Given the description of an element on the screen output the (x, y) to click on. 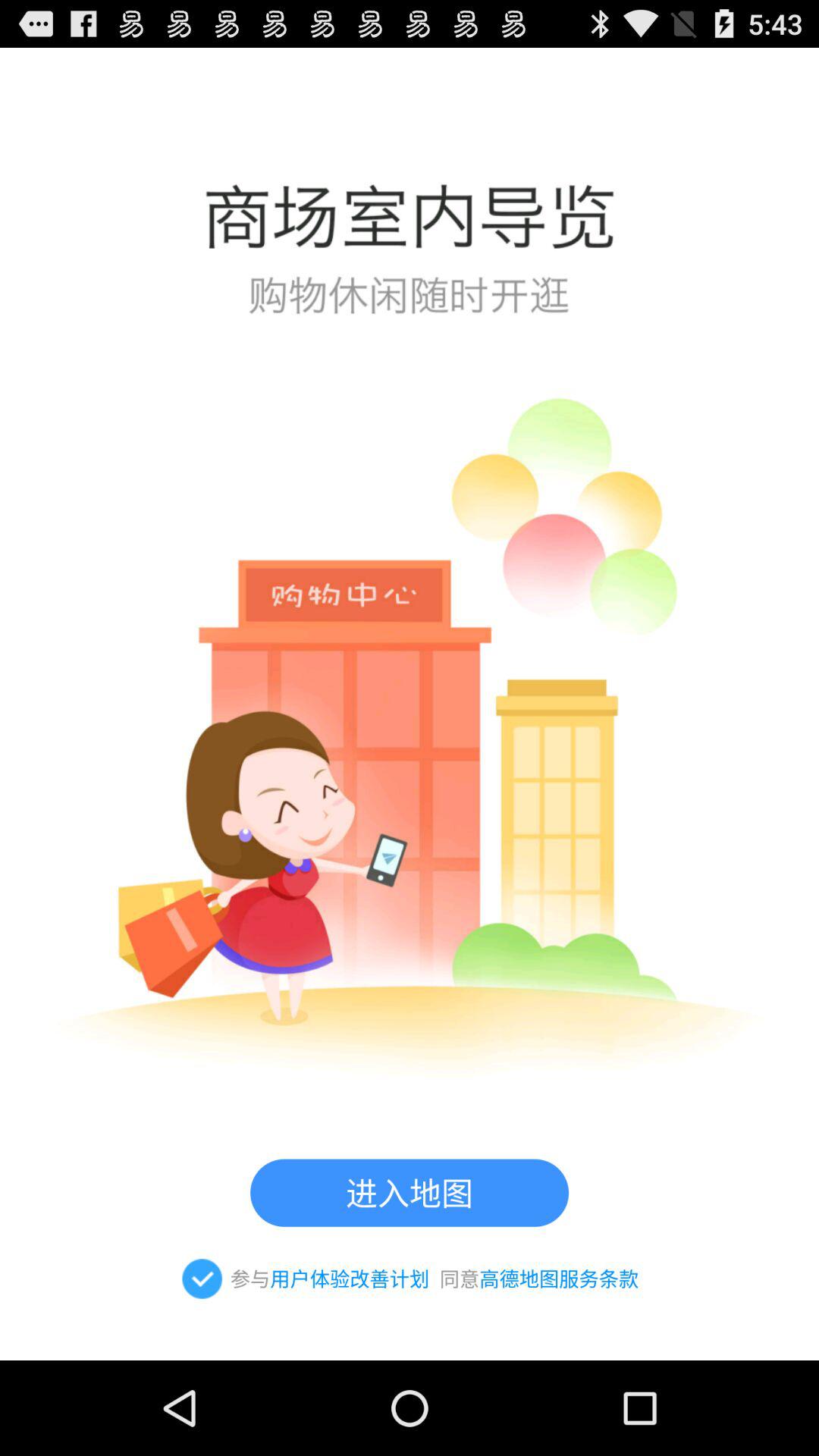
choose the app at the bottom right corner (558, 1278)
